Given the description of an element on the screen output the (x, y) to click on. 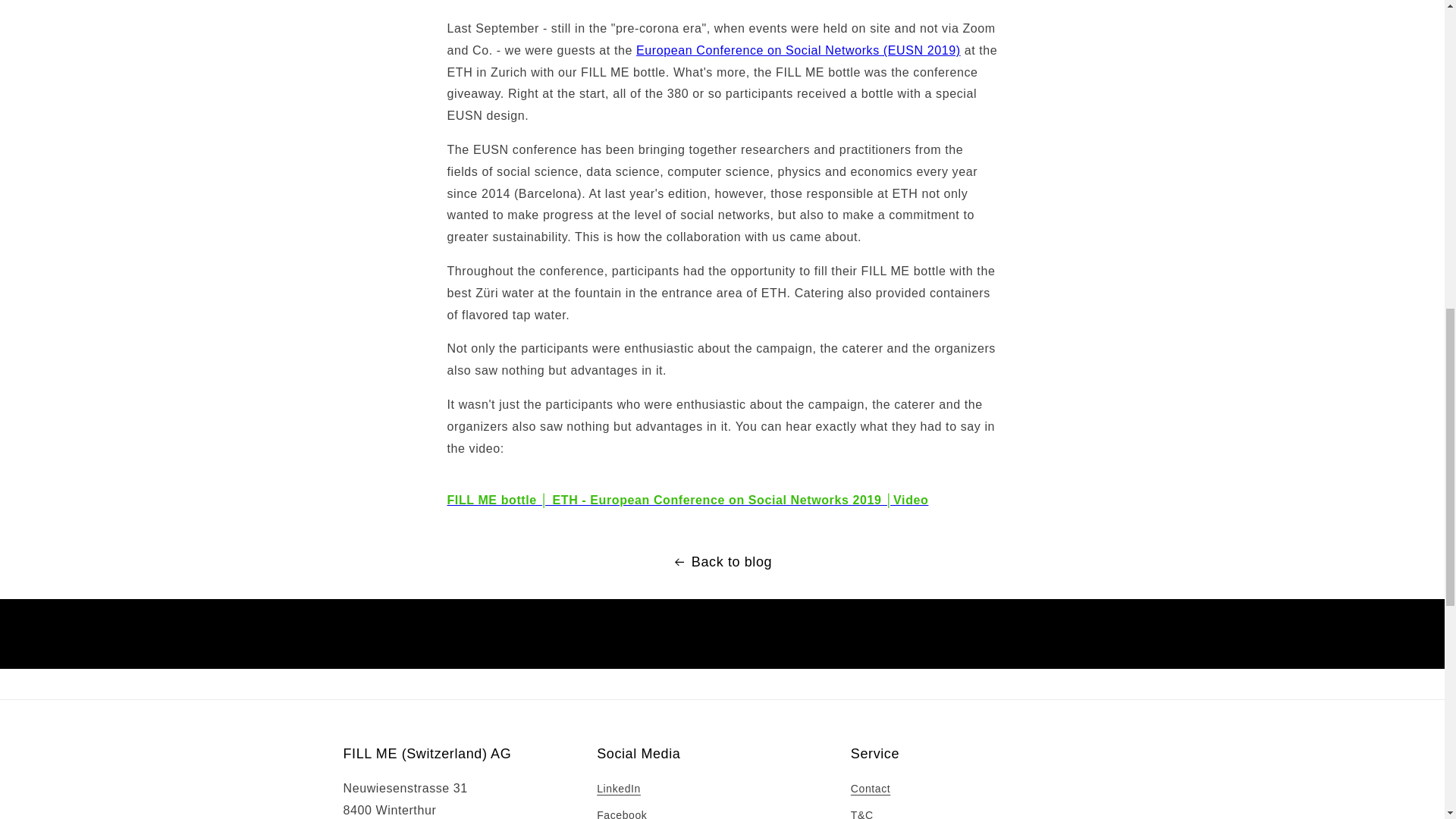
LinkedIn (618, 790)
Contact (869, 790)
Facebook (621, 810)
